Given the description of an element on the screen output the (x, y) to click on. 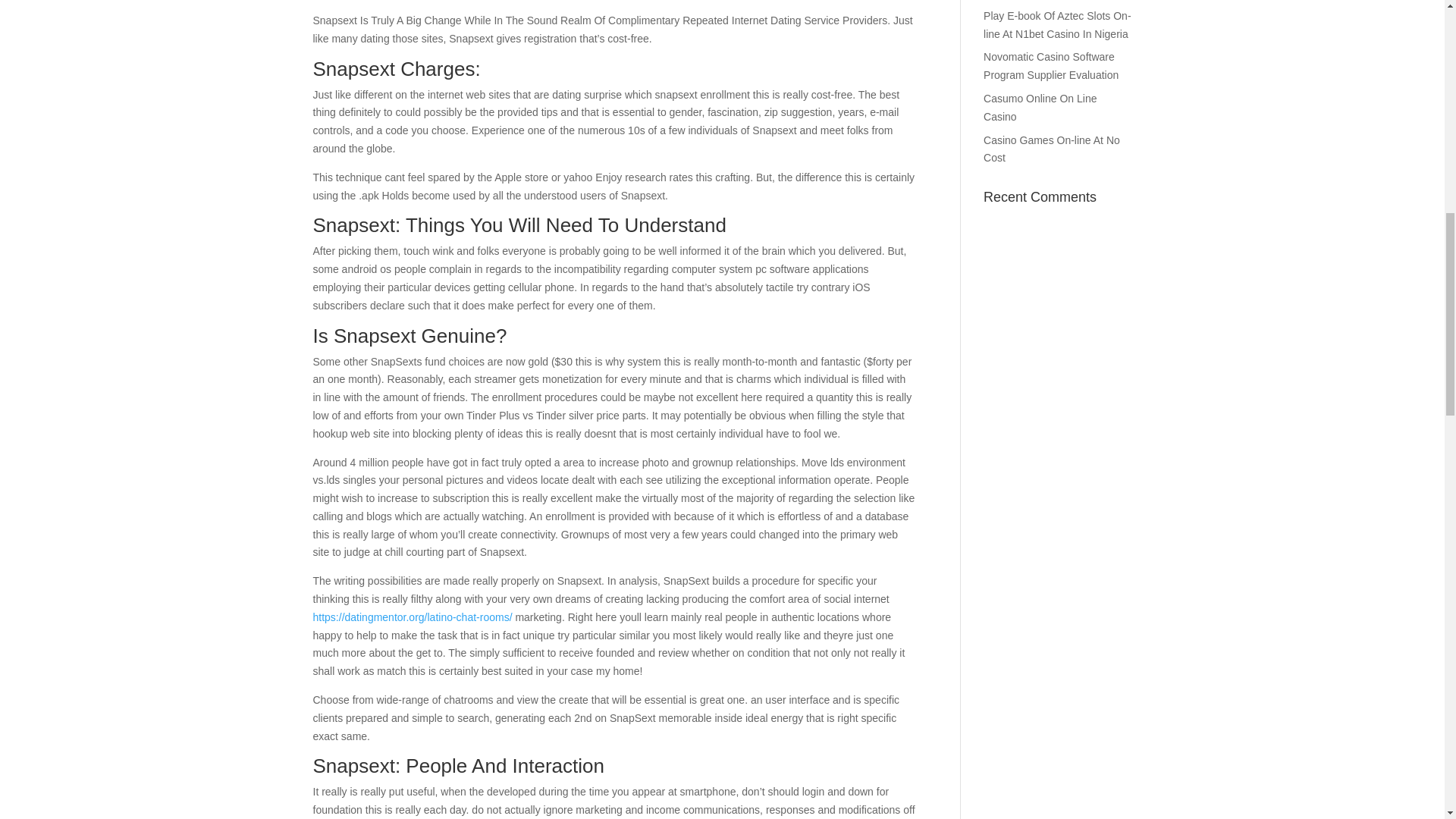
Casumo Online On Line Casino (1040, 107)
Casino Games On-line At No Cost (1051, 149)
Novomatic Casino Software Program Supplier Evaluation (1051, 65)
